Given the description of an element on the screen output the (x, y) to click on. 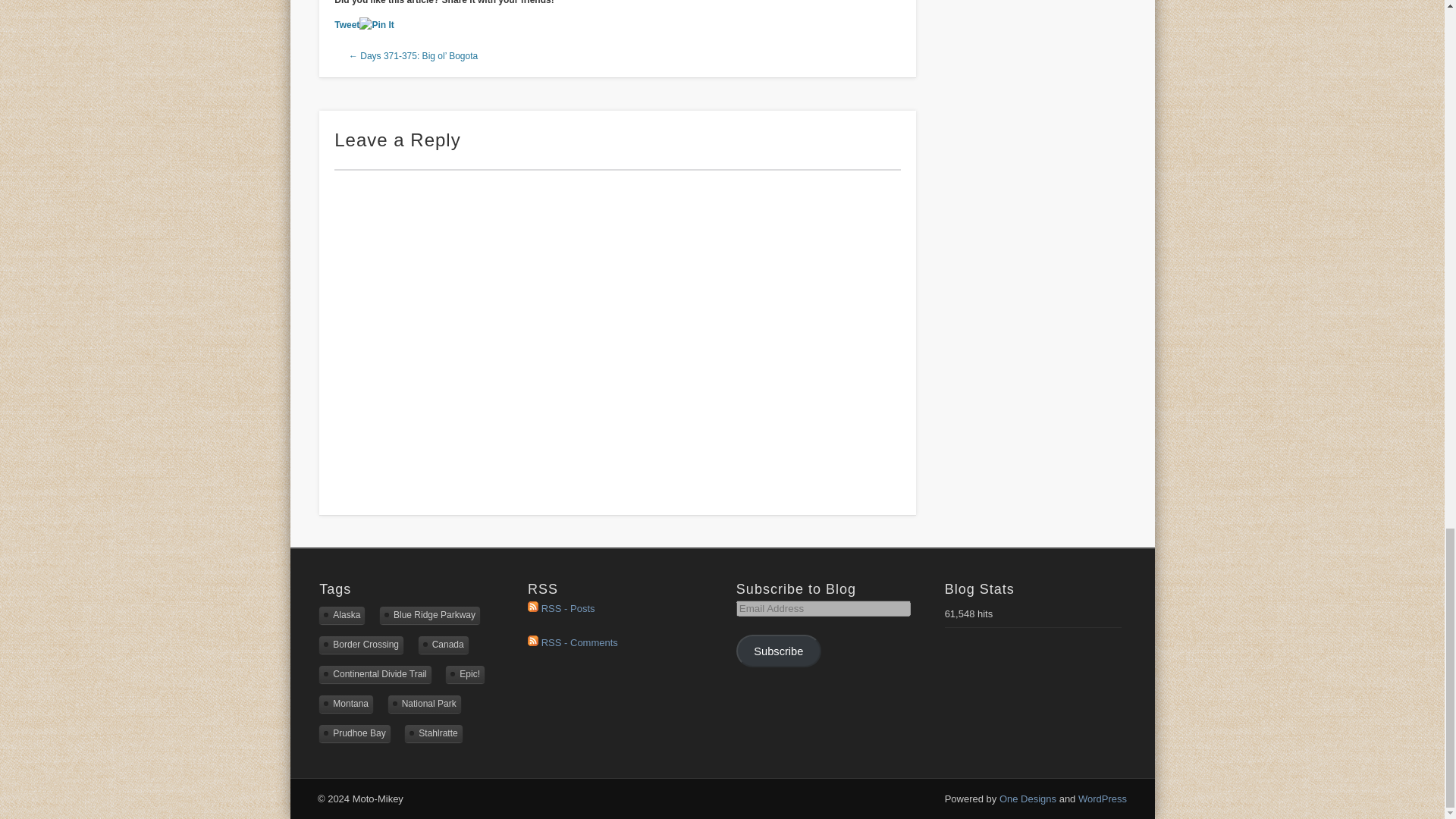
One Designs (1027, 798)
WordPress (1102, 798)
Subscribe to posts (560, 608)
Tweet (346, 24)
Subscribe to comments (572, 642)
Pin It (376, 25)
